Given the description of an element on the screen output the (x, y) to click on. 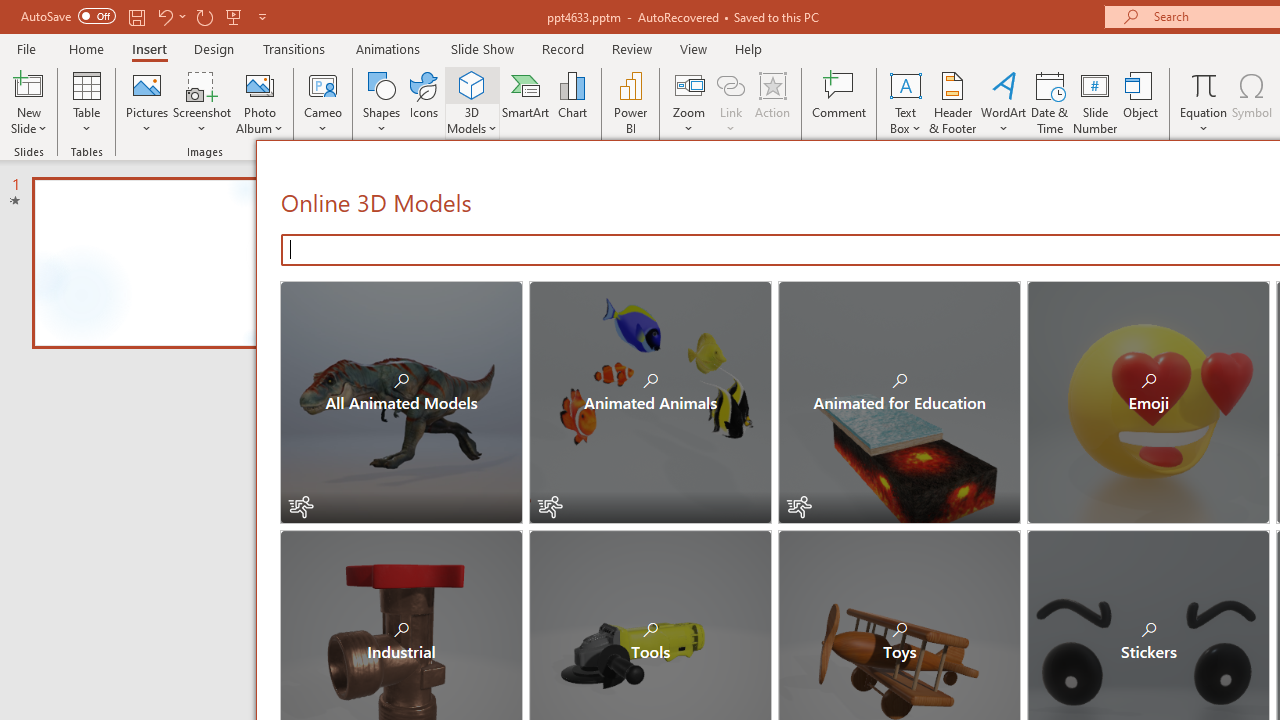
Chart... (572, 102)
WordArt (1004, 102)
Date & Time... (1050, 102)
Object... (1141, 102)
SmartArt... (525, 102)
All Animated Models (401, 402)
3D Models (472, 84)
